Given the description of an element on the screen output the (x, y) to click on. 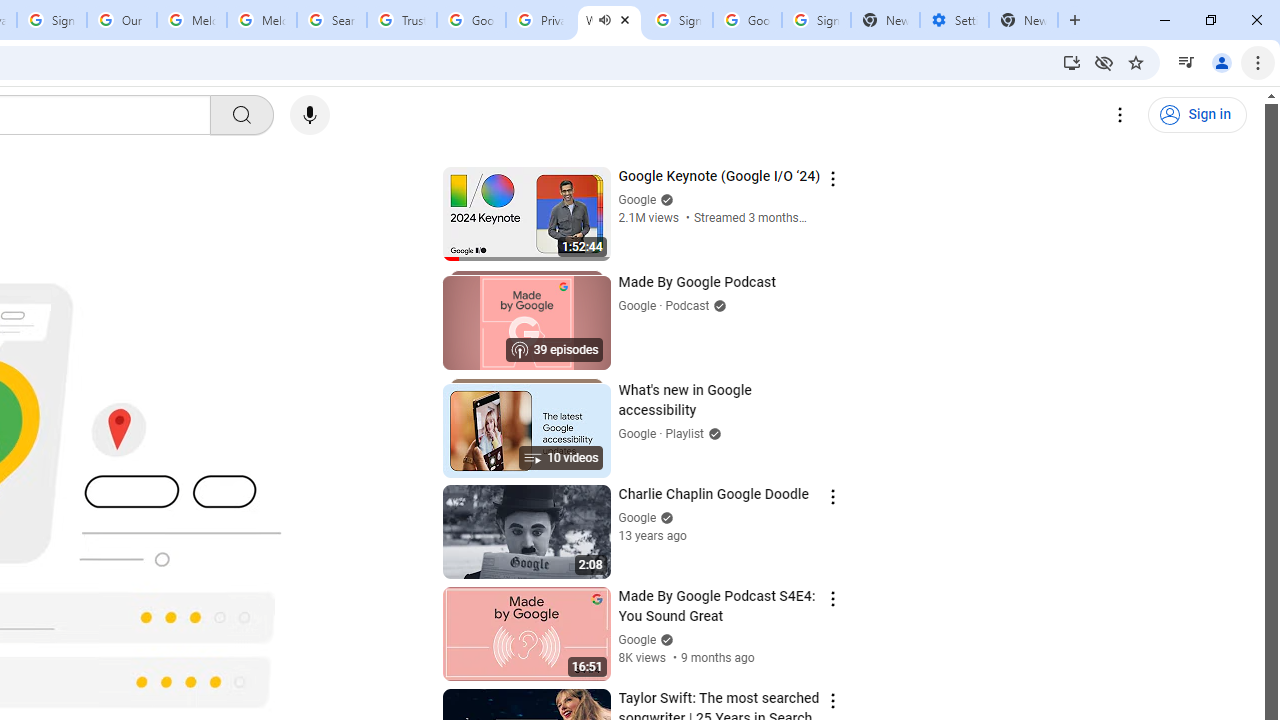
Google Cybersecurity Innovations - Google Safety Center (747, 20)
Settings - Addresses and more (954, 20)
Trusted Information and Content - Google Safety Center (401, 20)
Google Ads - Sign in (470, 20)
